Given the description of an element on the screen output the (x, y) to click on. 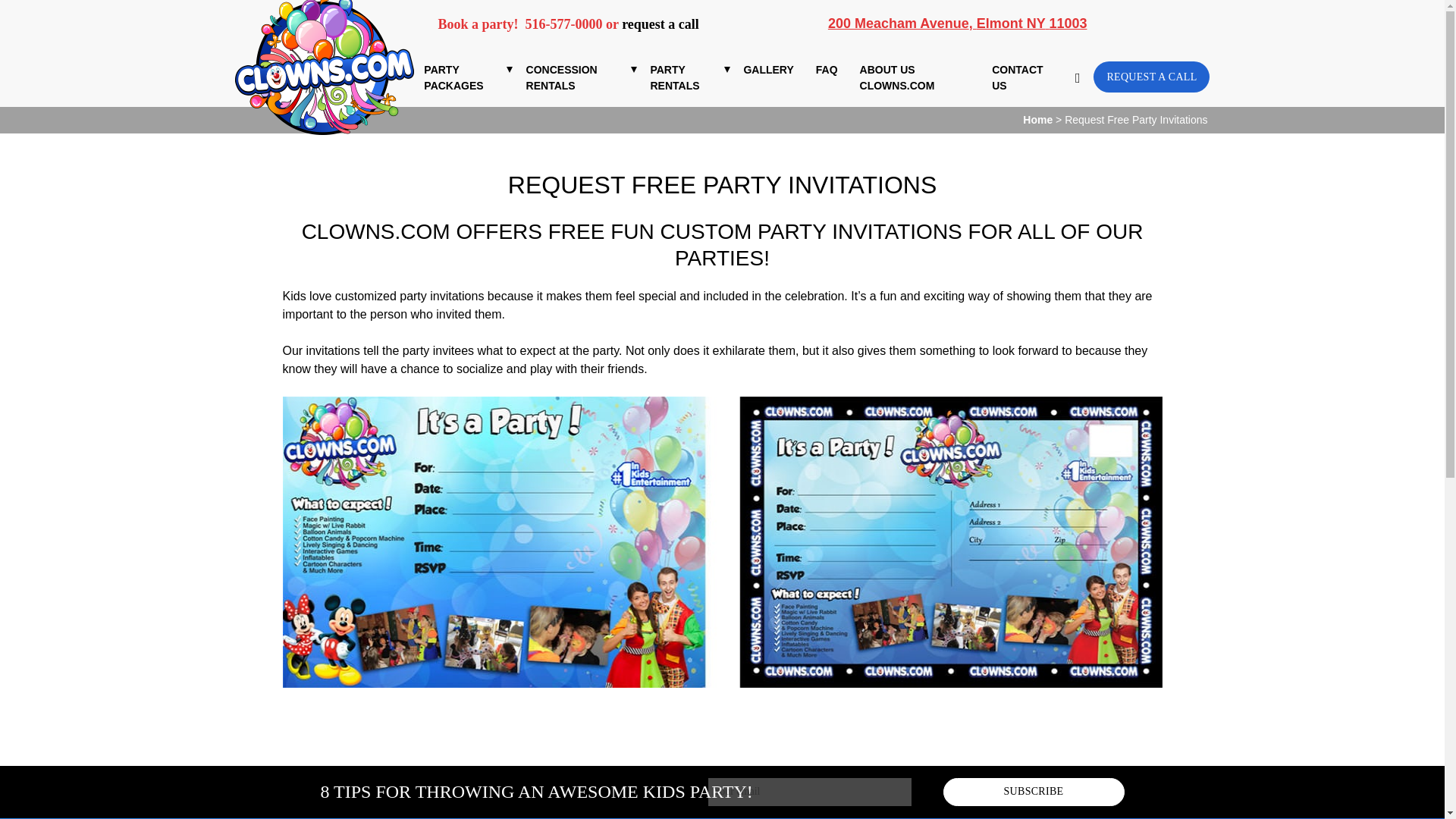
516-577-0000 (563, 23)
request a call (659, 23)
Subscribe (1033, 791)
200 Meacham Avenue, Elmont NY 11003 (957, 23)
